Given the description of an element on the screen output the (x, y) to click on. 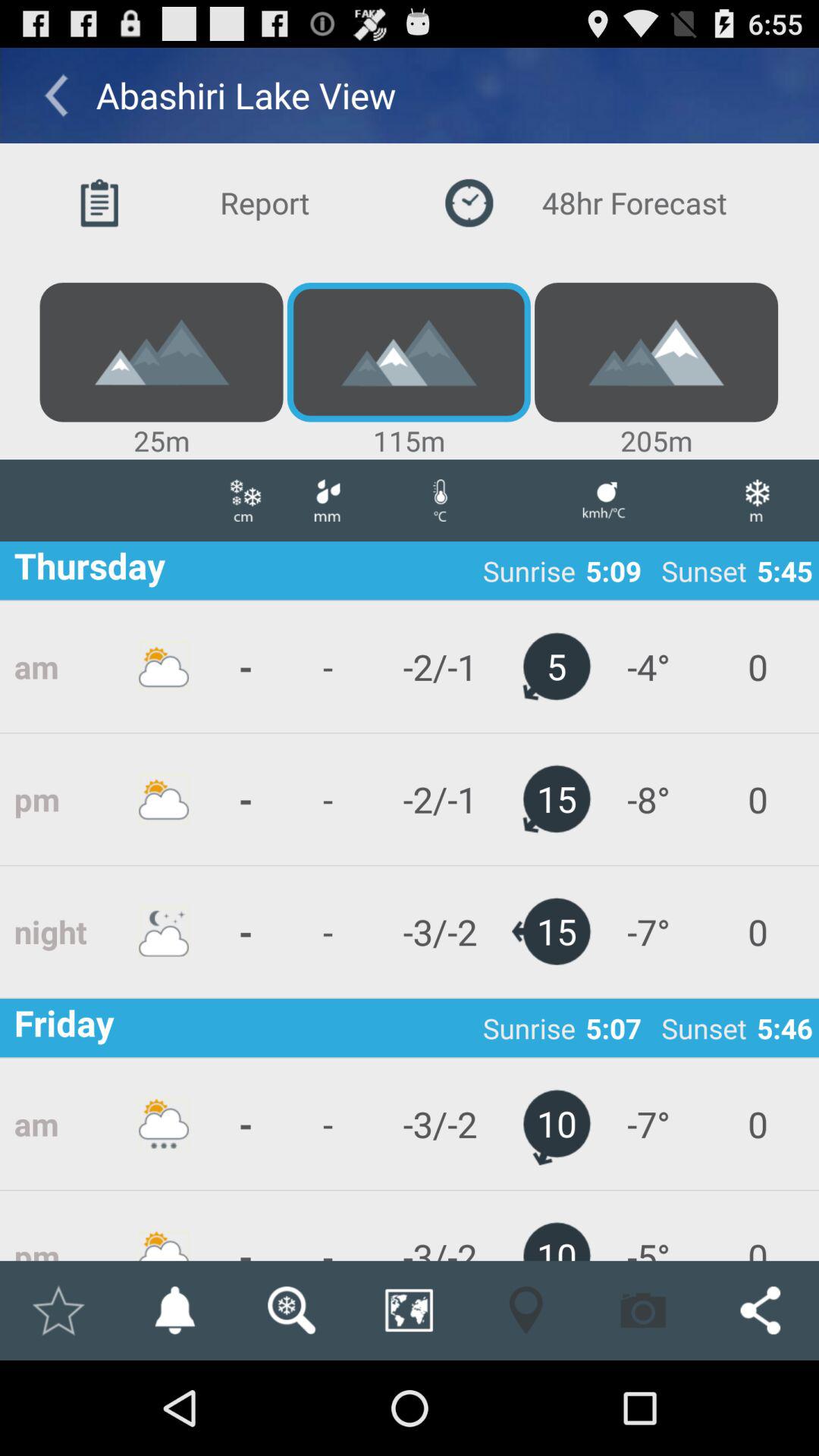
mark as highlight (58, 1310)
